Given the description of an element on the screen output the (x, y) to click on. 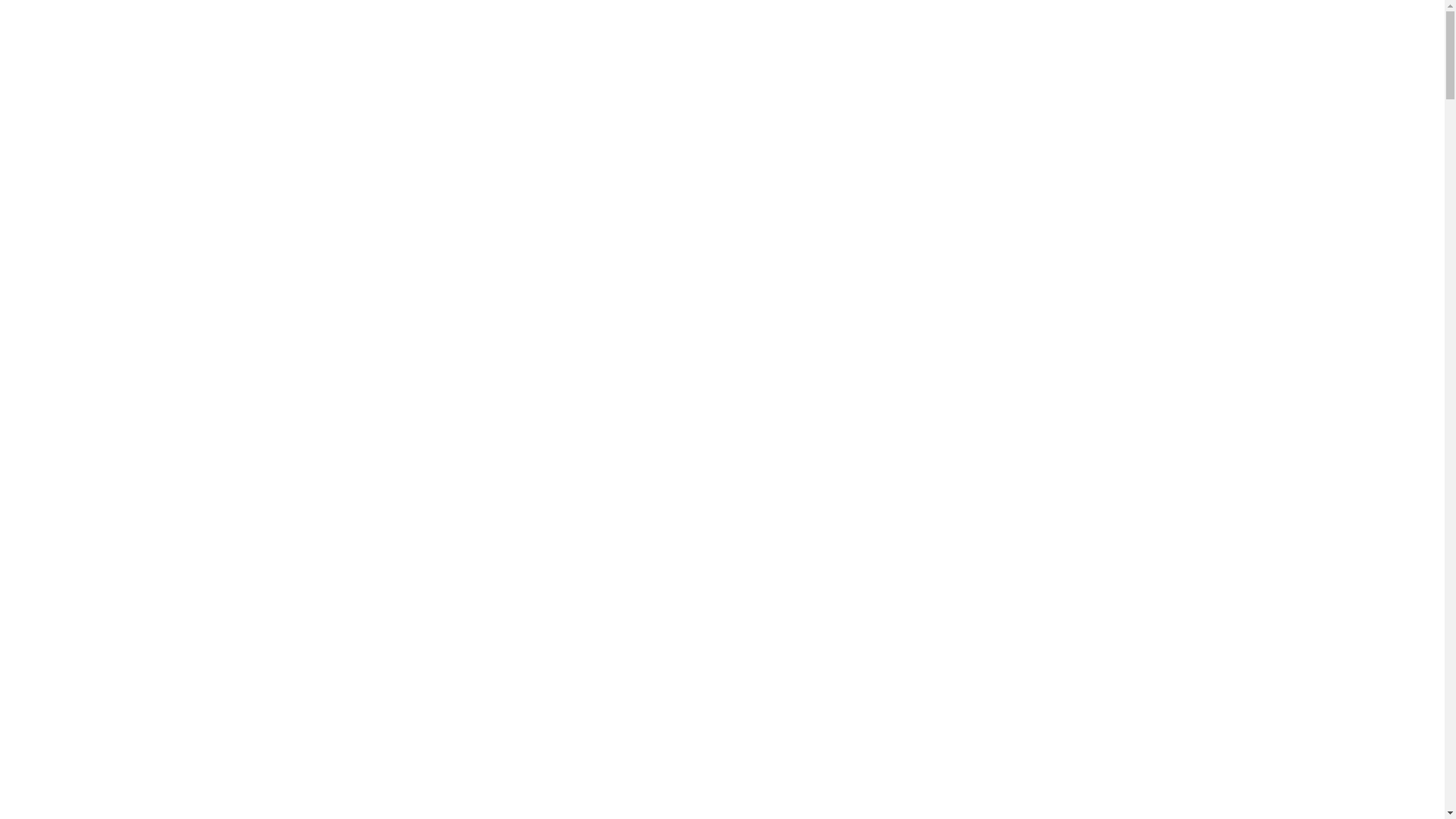
+375293104919 Element type: text (1041, 159)
EMAIL
info@midl.by Element type: text (717, 49)
FAQ Element type: text (772, 159)
